Given the description of an element on the screen output the (x, y) to click on. 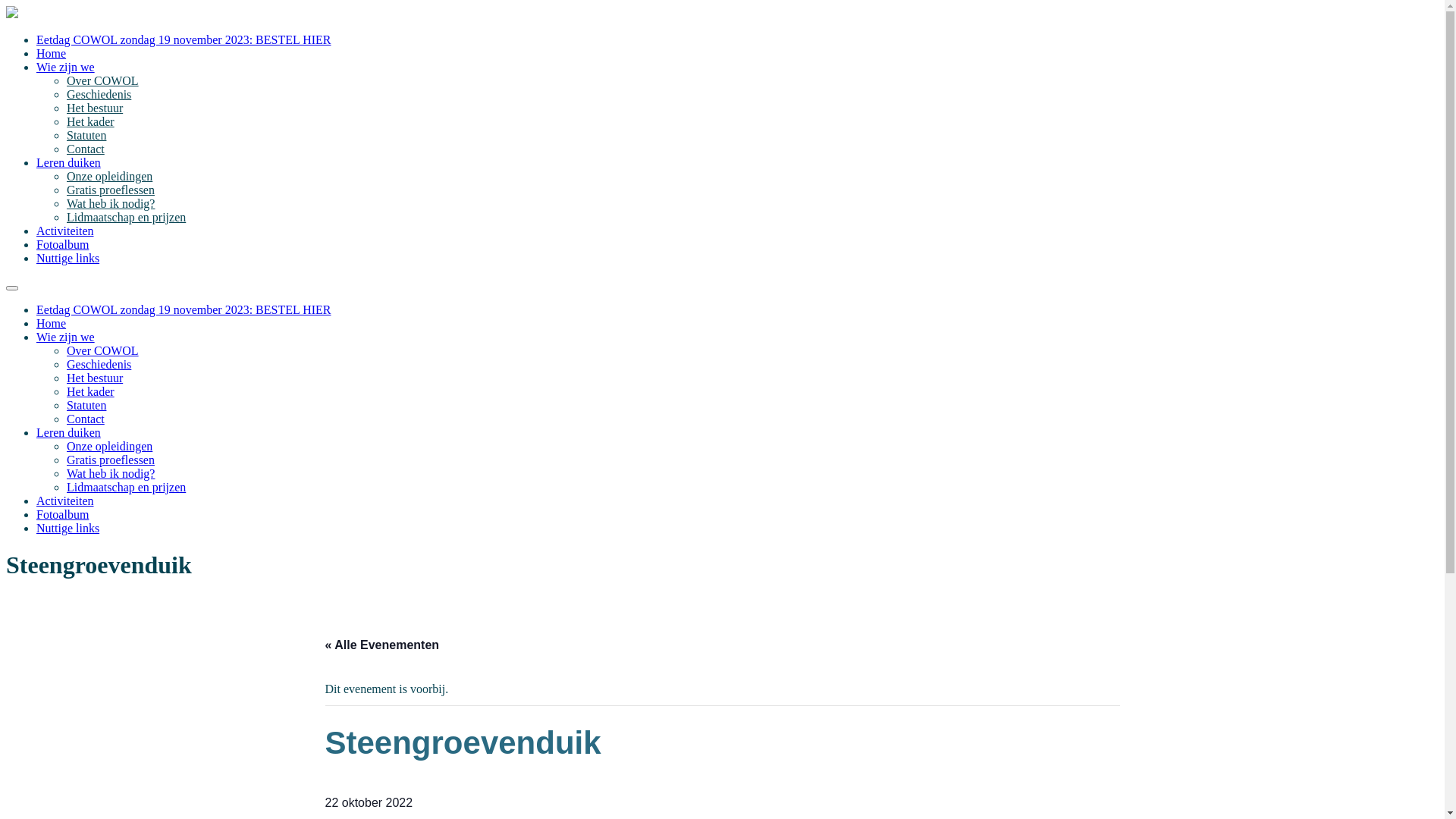
Leren duiken Element type: text (68, 432)
Eetdag COWOL zondag 19 november 2023: BESTEL HIER Element type: text (183, 309)
Activiteiten Element type: text (65, 500)
Leren duiken bij Cowol - Duikschool Hasselt Element type: hover (12, 13)
Fotoalbum Element type: text (62, 514)
Wat heb ik nodig? Element type: text (110, 473)
Het kader Element type: text (90, 121)
Activiteiten Element type: text (65, 230)
Home Element type: text (50, 322)
Nuttige links Element type: text (67, 257)
Contact Element type: text (85, 148)
Geschiedenis Element type: text (98, 363)
Home Element type: text (50, 53)
Het kader Element type: text (90, 391)
Onze opleidingen Element type: text (109, 445)
Statuten Element type: text (86, 404)
Eetdag COWOL zondag 19 november 2023: BESTEL HIER Element type: text (183, 39)
Gratis proeflessen Element type: text (110, 459)
Het bestuur Element type: text (94, 107)
Wie zijn we Element type: text (65, 66)
Wie zijn we Element type: text (65, 336)
Geschiedenis Element type: text (98, 93)
Leren duiken Element type: text (68, 162)
Statuten Element type: text (86, 134)
Lidmaatschap en prijzen Element type: text (125, 486)
Over COWOL Element type: text (102, 350)
Gratis proeflessen Element type: text (110, 189)
Lidmaatschap en prijzen Element type: text (125, 216)
Contact Element type: text (85, 418)
Onze opleidingen Element type: text (109, 175)
Het bestuur Element type: text (94, 377)
Wat heb ik nodig? Element type: text (110, 203)
Over COWOL Element type: text (102, 80)
Nuttige links Element type: text (67, 527)
Fotoalbum Element type: text (62, 244)
